Given the description of an element on the screen output the (x, y) to click on. 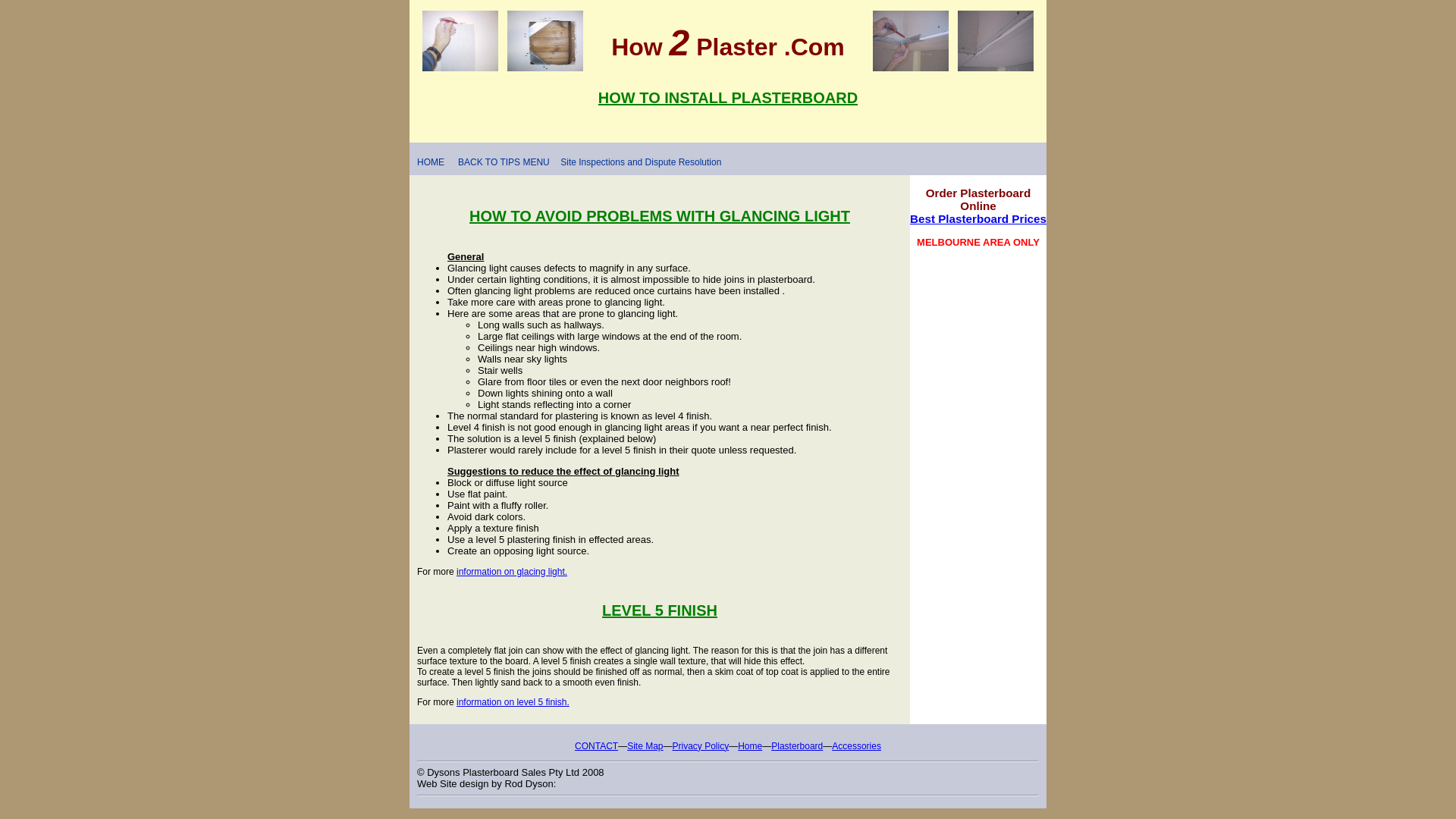
Site Map (644, 746)
BACK TO TIPS MENU (504, 162)
Home (749, 746)
information on level 5 finish. (513, 701)
HOME (430, 162)
CONTACT (596, 746)
Privacy Policy (700, 746)
Best Plasterboard Prices (978, 218)
Accessories (855, 746)
information on glacing light. (512, 571)
